Given the description of an element on the screen output the (x, y) to click on. 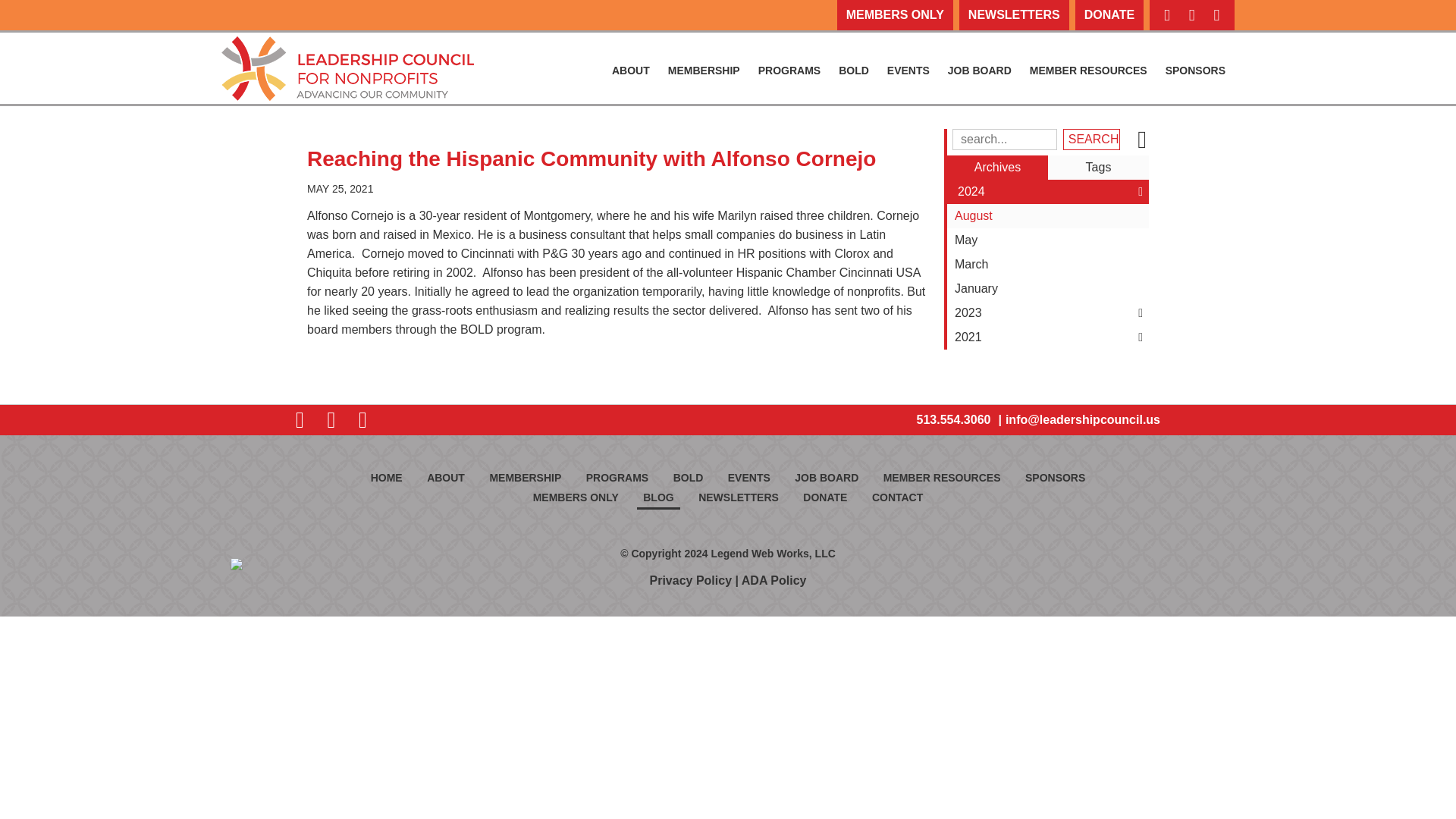
MEMBERSHIP (704, 70)
visit our LinkedIn page (1216, 15)
MEMBER RESOURCES (1088, 70)
visit our facebook page (1166, 15)
JOB BOARD (979, 70)
PROGRAMS (789, 70)
NEWSLETTERS (1013, 15)
visit our LinkedIn page (1216, 15)
visit our Instagram page (1191, 15)
visit our facebook page (1166, 15)
